Given the description of an element on the screen output the (x, y) to click on. 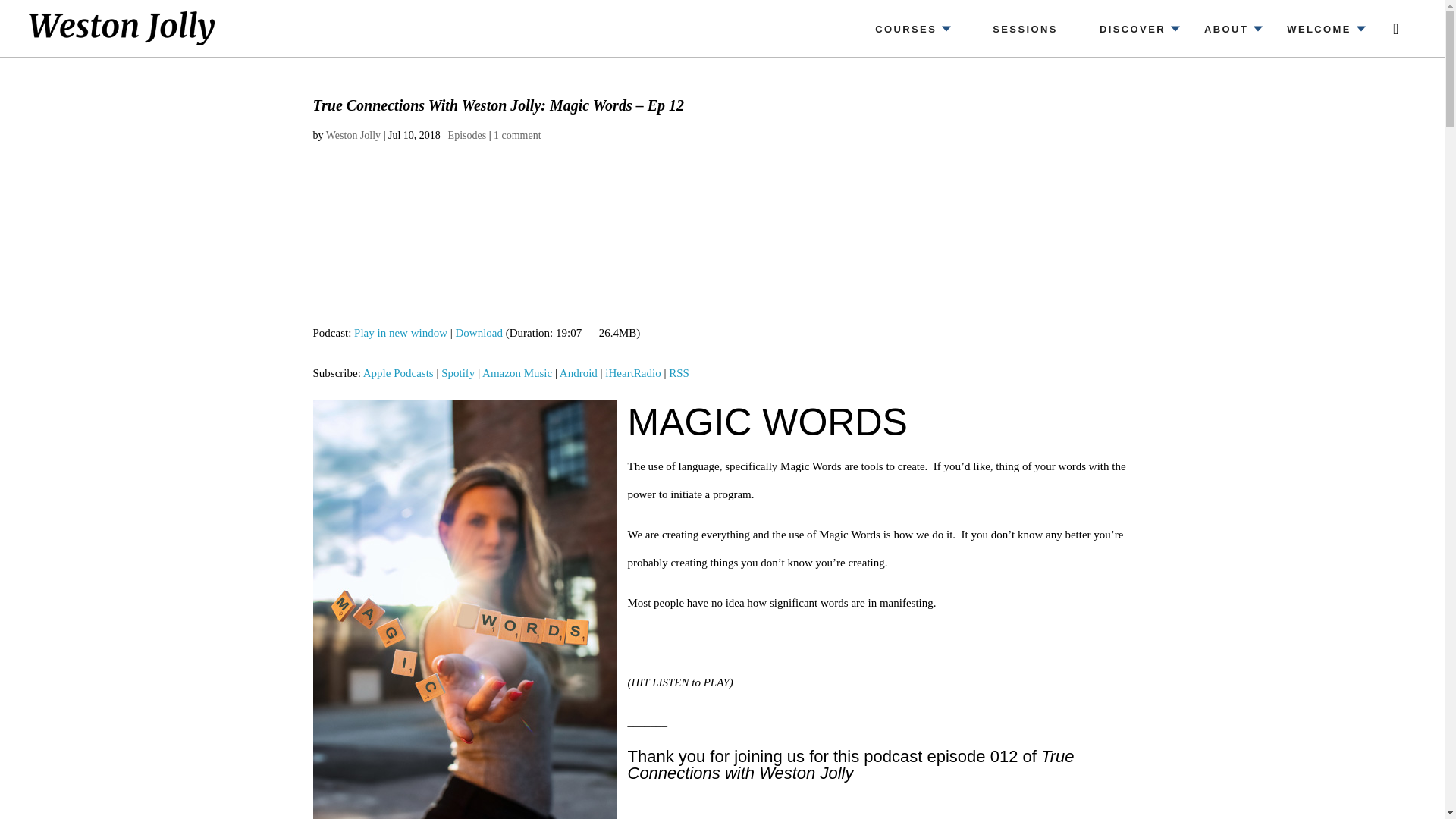
Subscribe on Apple Podcasts (397, 372)
Download (479, 331)
Subscribe on iHeartRadio (633, 372)
Blubrry Podcast Player (722, 249)
SESSIONS (1024, 28)
Posts by Weston Jolly (353, 134)
Subscribe via RSS (678, 372)
Subscribe on Amazon Music (516, 372)
Play in new window (399, 331)
Subscribe on Android (577, 372)
Subscribe on Spotify (457, 372)
